Given the description of an element on the screen output the (x, y) to click on. 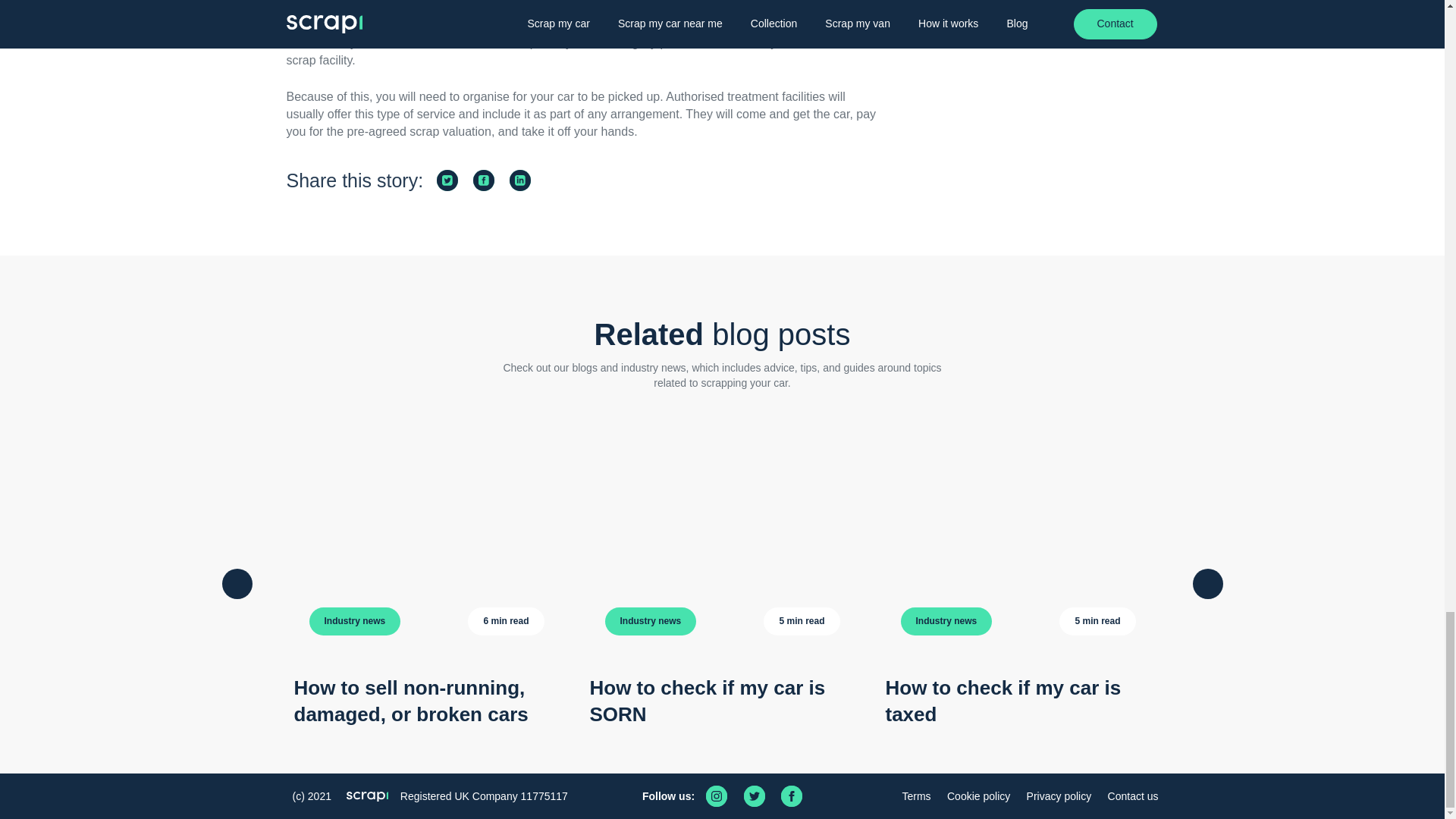
Twitter (754, 795)
How to sell non-running, damaged, or broken cars (411, 700)
Industry news (651, 621)
Industry news (354, 621)
How to check if my car is SORN (707, 700)
Facebook (791, 795)
Industry news (946, 621)
Previous (236, 583)
Instagram (716, 795)
How to check if my car is taxed (1003, 700)
